Given the description of an element on the screen output the (x, y) to click on. 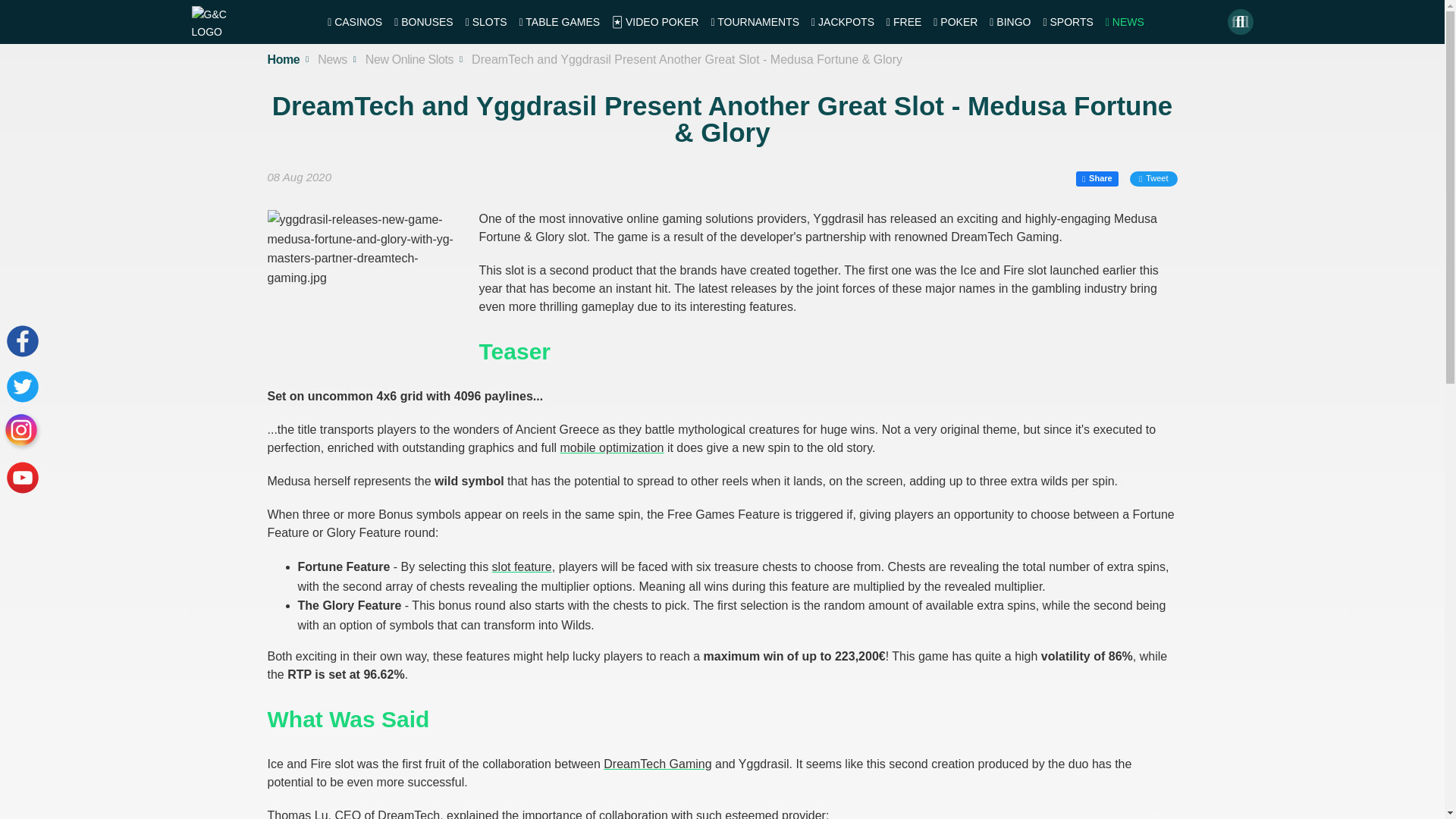
Pitfalls of Mobile Casino Games - How to Overcome (611, 447)
Feature Slots Article (521, 566)
DreamTech Gaming Casinos (657, 763)
